Given the description of an element on the screen output the (x, y) to click on. 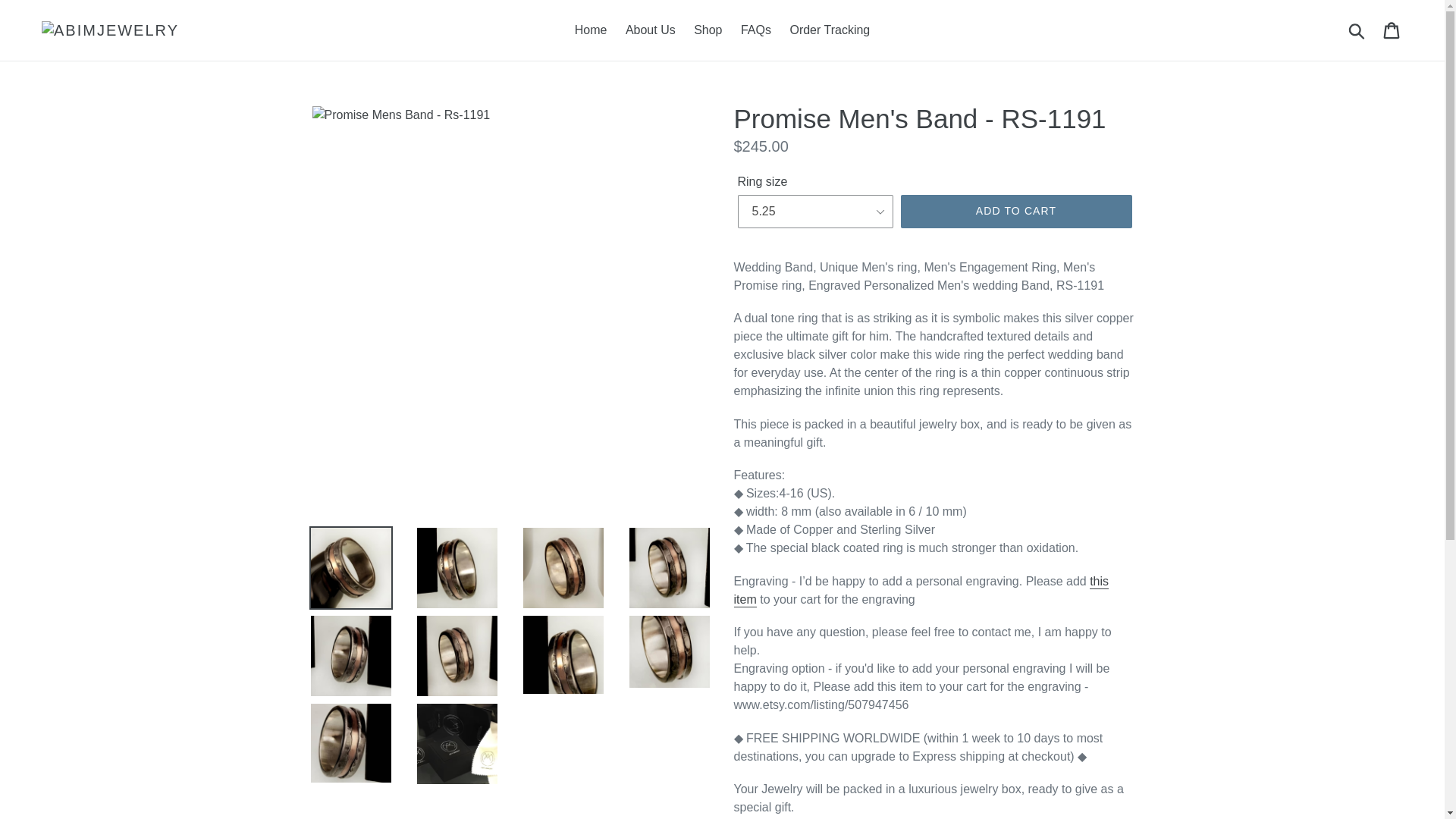
Order Tracking (829, 29)
About Us (649, 29)
Submit (1357, 29)
Adding Engraving (921, 590)
Home (590, 29)
ADD TO CART (1016, 211)
FAQs (755, 29)
this item (921, 590)
Cart (1392, 29)
Shop (707, 29)
